Given the description of an element on the screen output the (x, y) to click on. 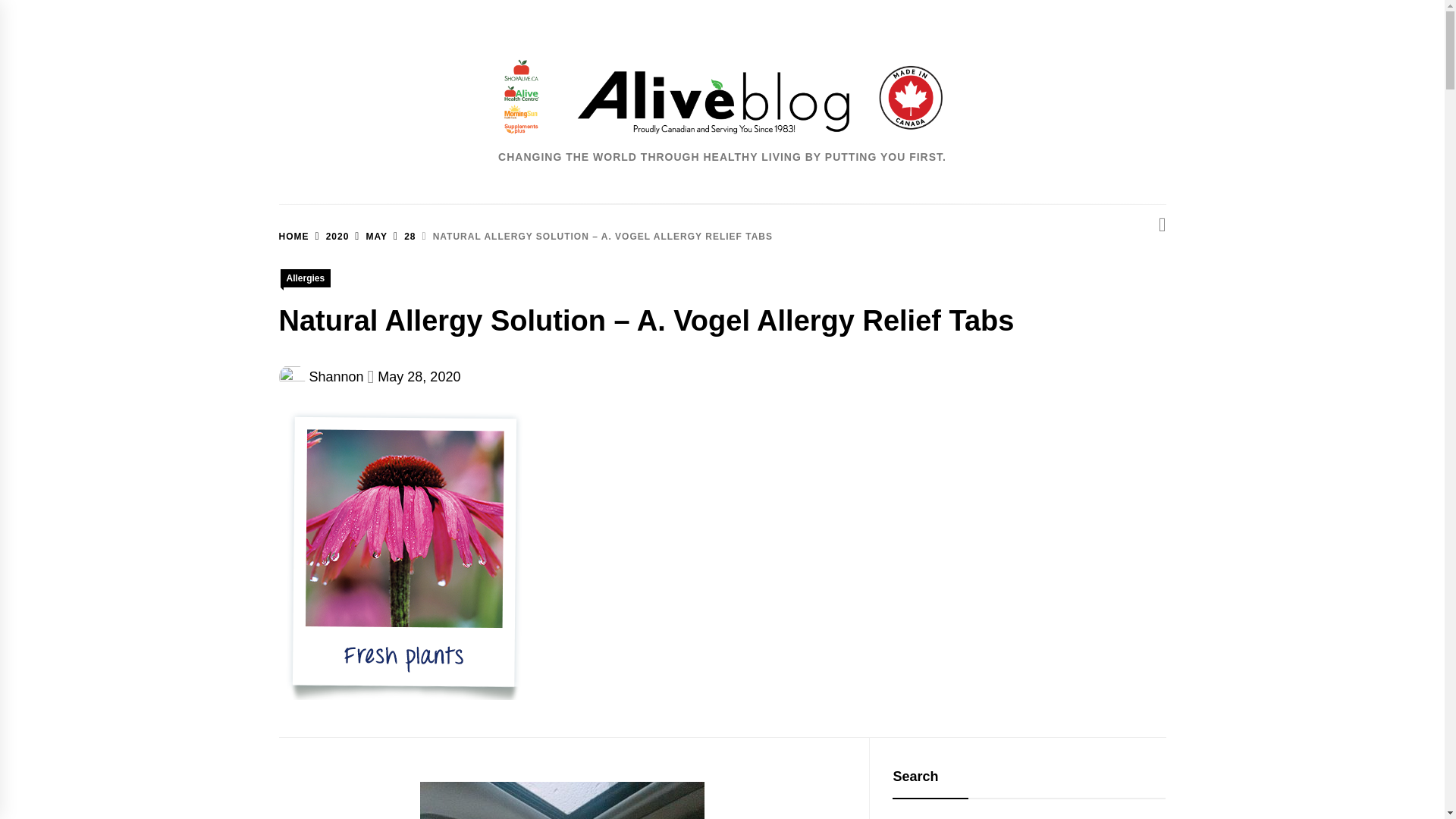
MAY (368, 235)
Allergies (306, 278)
HOME (293, 235)
28 (400, 235)
May 28, 2020 (418, 376)
Shannon (336, 376)
ALIVE HEALTH BLOG (805, 211)
2020 (328, 235)
